Given the description of an element on the screen output the (x, y) to click on. 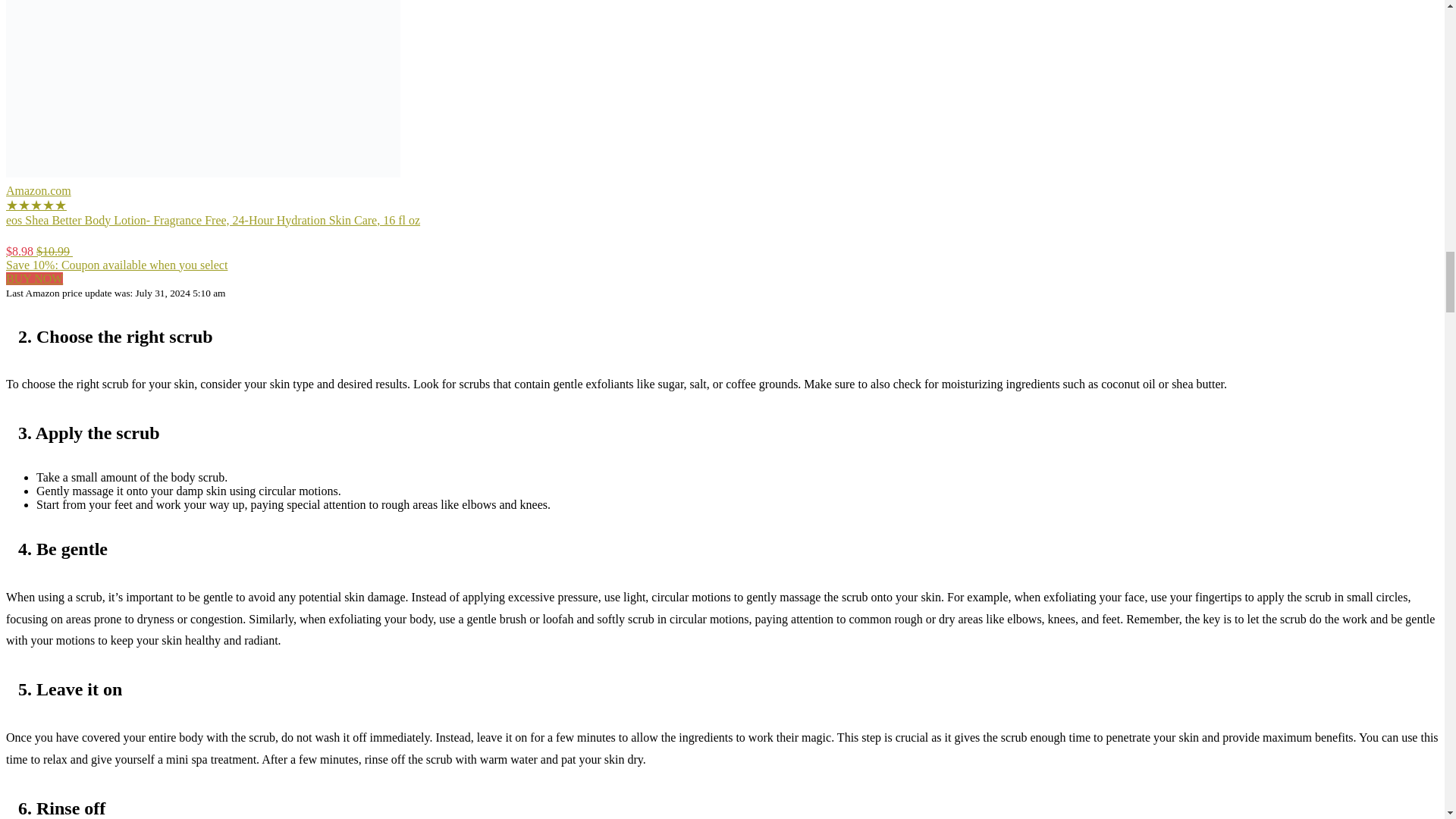
BUY NOW (33, 278)
